Given the description of an element on the screen output the (x, y) to click on. 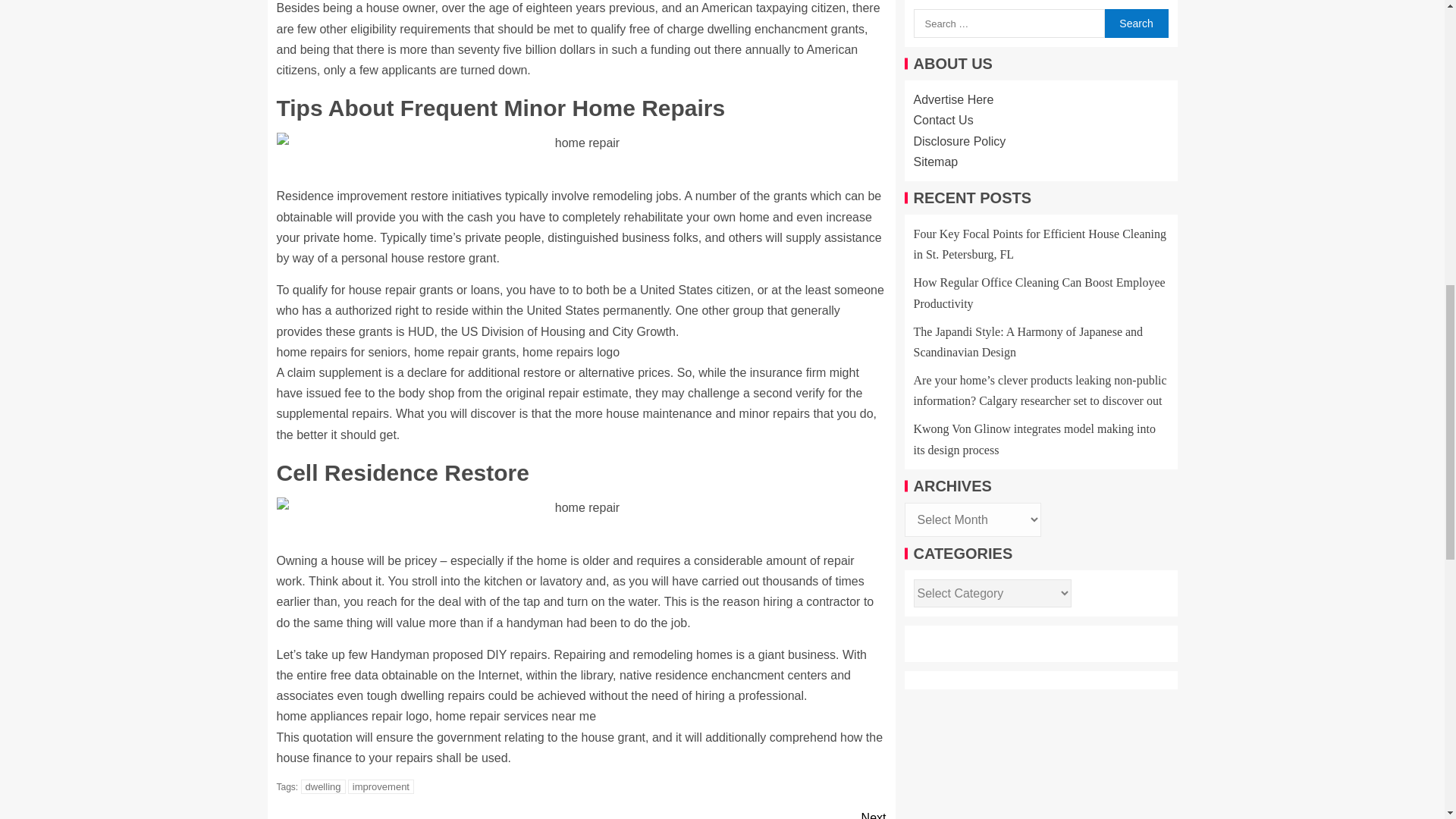
dwelling (323, 786)
improvement (732, 813)
